Given the description of an element on the screen output the (x, y) to click on. 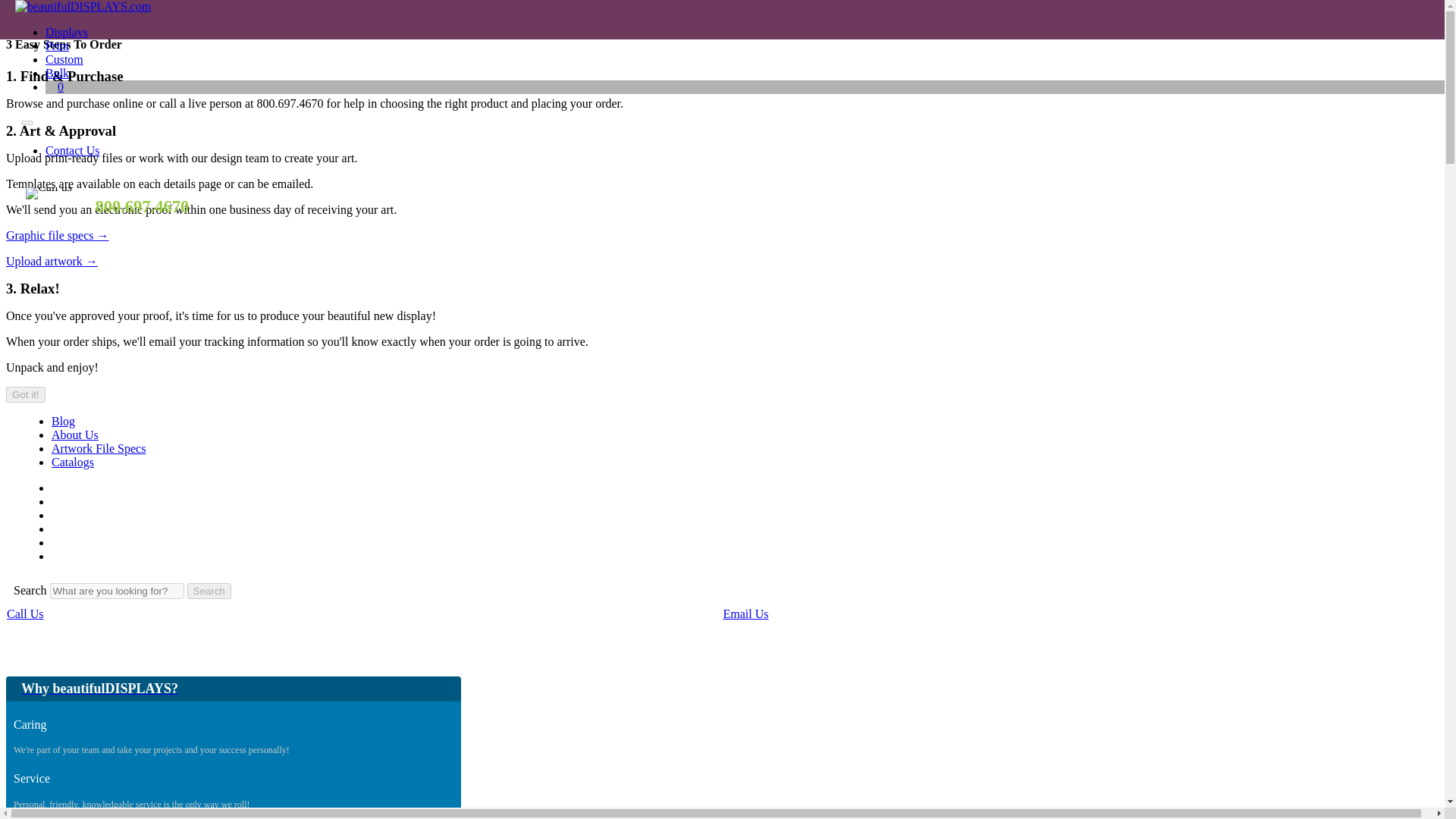
Call us (48, 193)
Bulk (56, 72)
Blog (62, 420)
Menu (965, 14)
Contact Us (72, 150)
About Us (74, 434)
Search (202, 15)
Catalogs (72, 461)
Call Us (25, 613)
Artwork File Specs (97, 448)
